Given the description of an element on the screen output the (x, y) to click on. 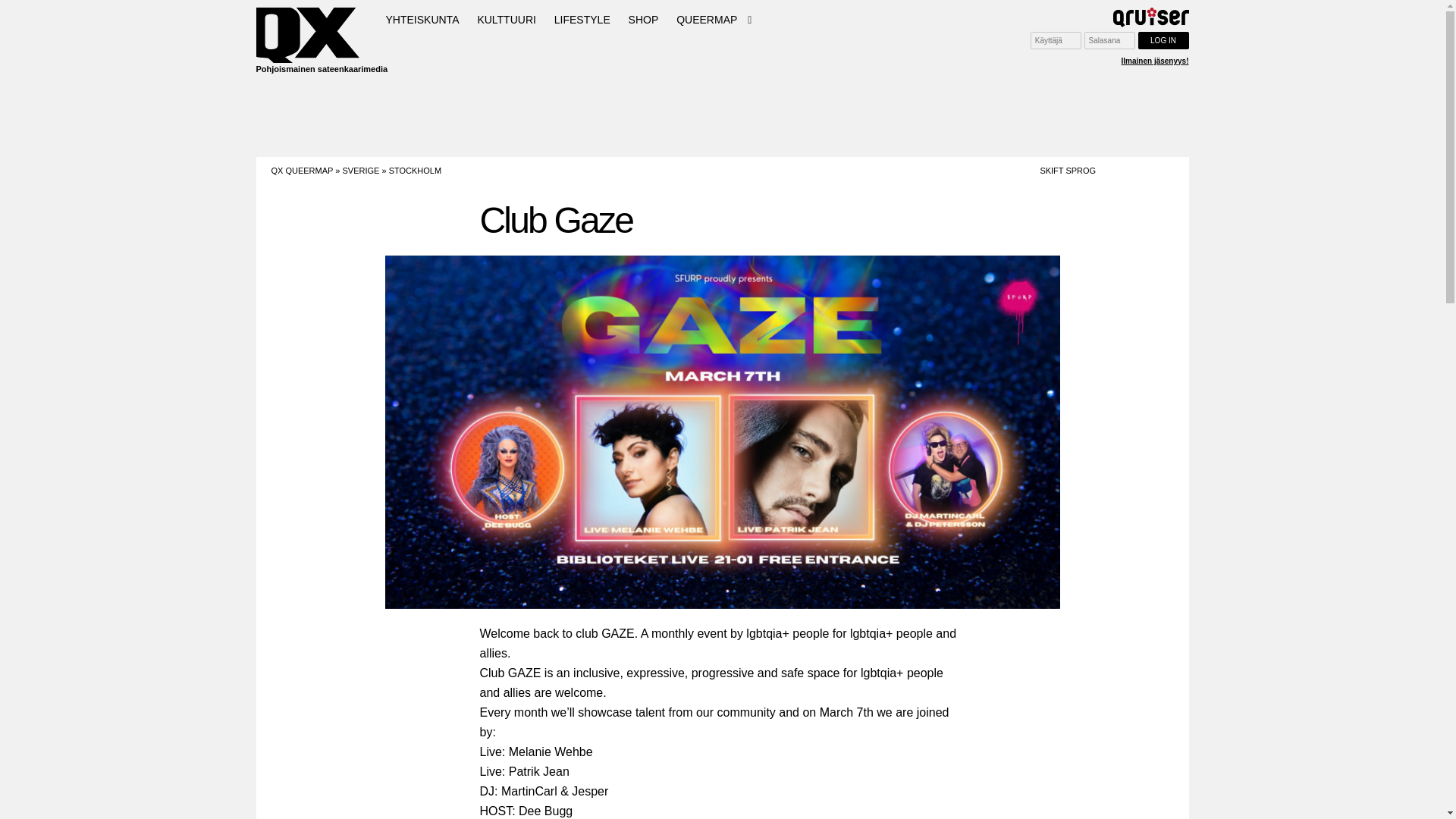
Log in (1162, 40)
Pohjoismainen sateenkaarimedia (309, 41)
SHOP (643, 19)
Log in (1162, 40)
STOCKHOLM (414, 170)
QX QUEERMAP (301, 170)
KULTTUURI (505, 19)
LIFESTYLE (582, 19)
SVERIGE (360, 170)
YHTEISKUNTA (421, 19)
